Given the description of an element on the screen output the (x, y) to click on. 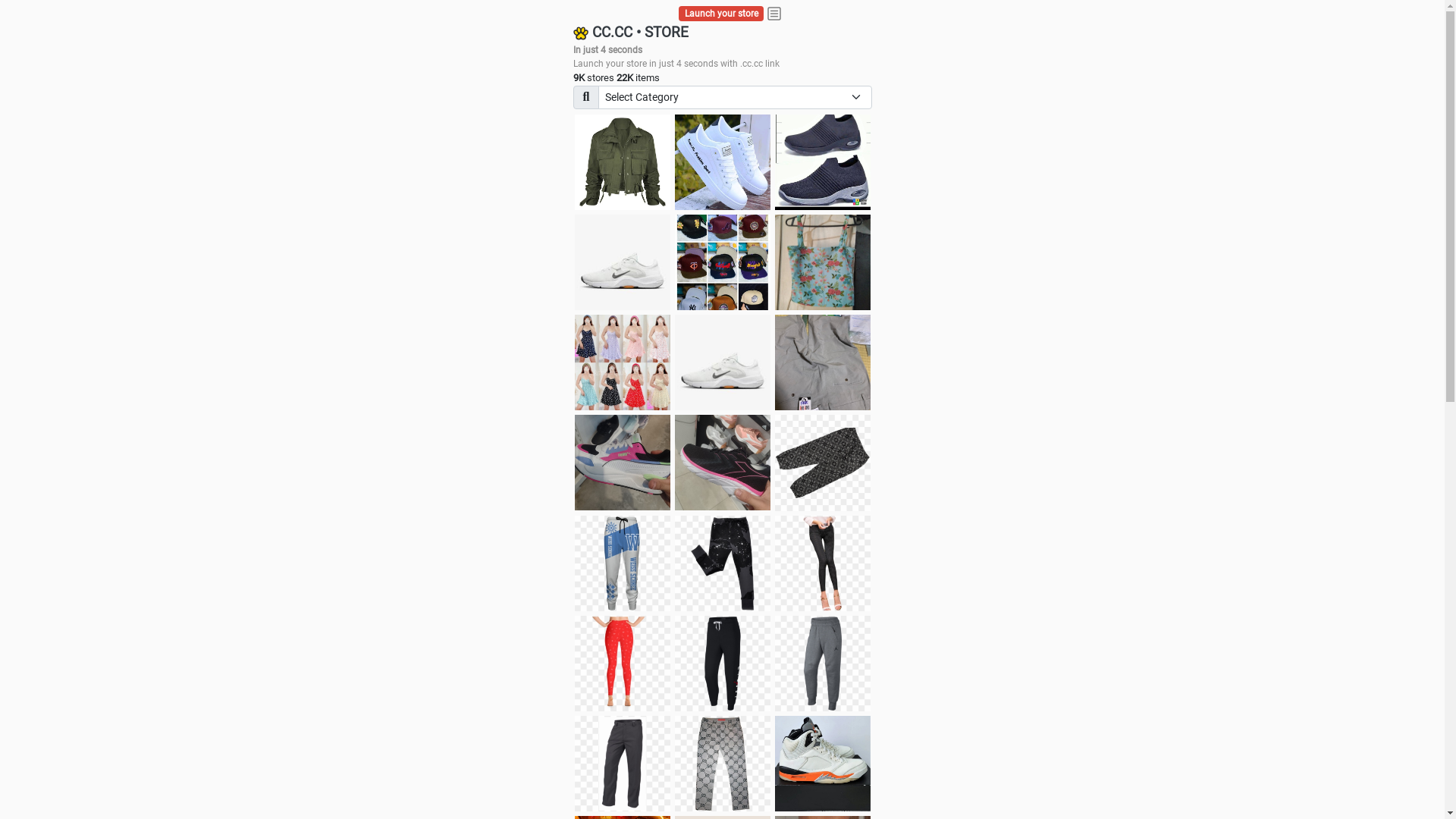
Pant Element type: hover (822, 663)
Things we need Element type: hover (722, 262)
Zapatillas Element type: hover (722, 462)
shoes for boys Element type: hover (822, 162)
Shoes for boys Element type: hover (622, 262)
jacket Element type: hover (622, 162)
Pant Element type: hover (622, 663)
Dress/square nect top Element type: hover (622, 362)
Pant Element type: hover (722, 663)
Zapatillas pumas Element type: hover (622, 462)
Short pant Element type: hover (822, 462)
Pant Element type: hover (622, 563)
Shoes Element type: hover (722, 362)
white shoes Element type: hover (722, 162)
Pant Element type: hover (722, 763)
Pant Element type: hover (822, 563)
Pant Element type: hover (722, 563)
Launch your store Element type: text (721, 13)
Pant Element type: hover (622, 763)
Shoe Element type: hover (822, 763)
Ukay cloth Element type: hover (822, 262)
